Given the description of an element on the screen output the (x, y) to click on. 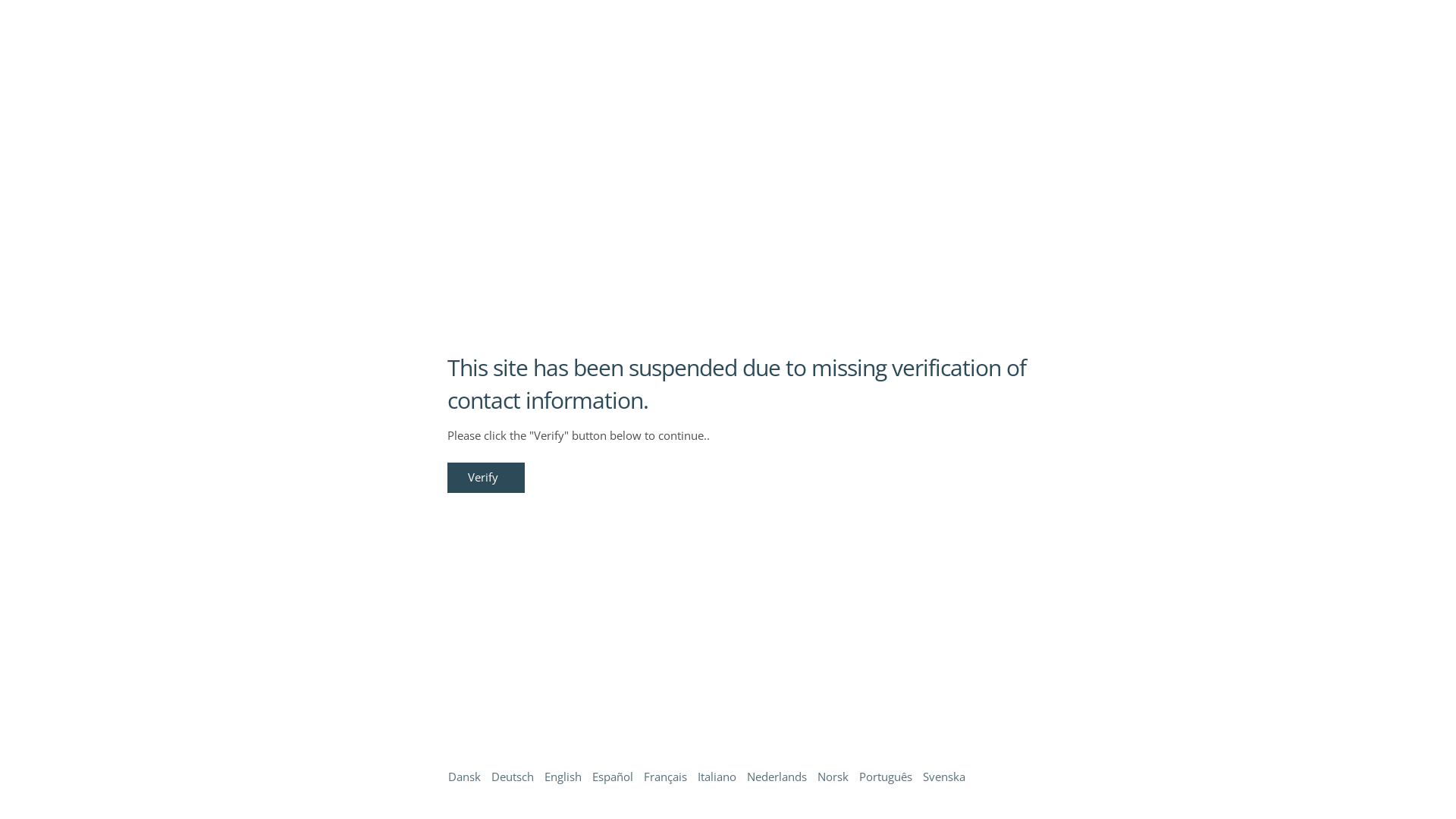
Verify Element type: text (485, 477)
